Given the description of an element on the screen output the (x, y) to click on. 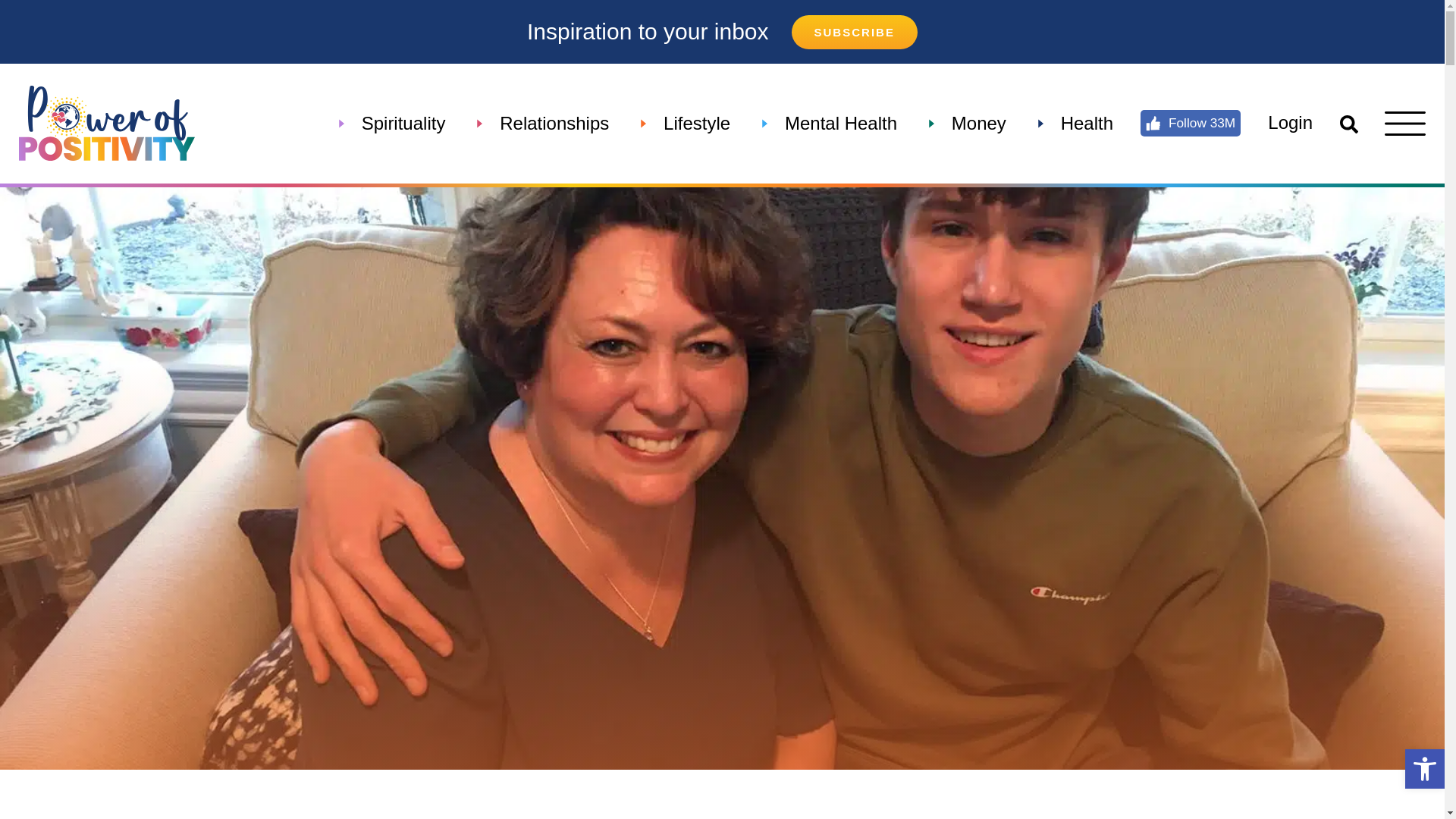
Health (1086, 123)
SUBSCRIBE (854, 32)
Accessibility Tools (1424, 768)
Money (978, 123)
Follow 33M (1189, 122)
Relationships (553, 123)
Login (1290, 122)
Mental Health (840, 123)
Lifestyle (696, 123)
Spirituality (403, 123)
